Given the description of an element on the screen output the (x, y) to click on. 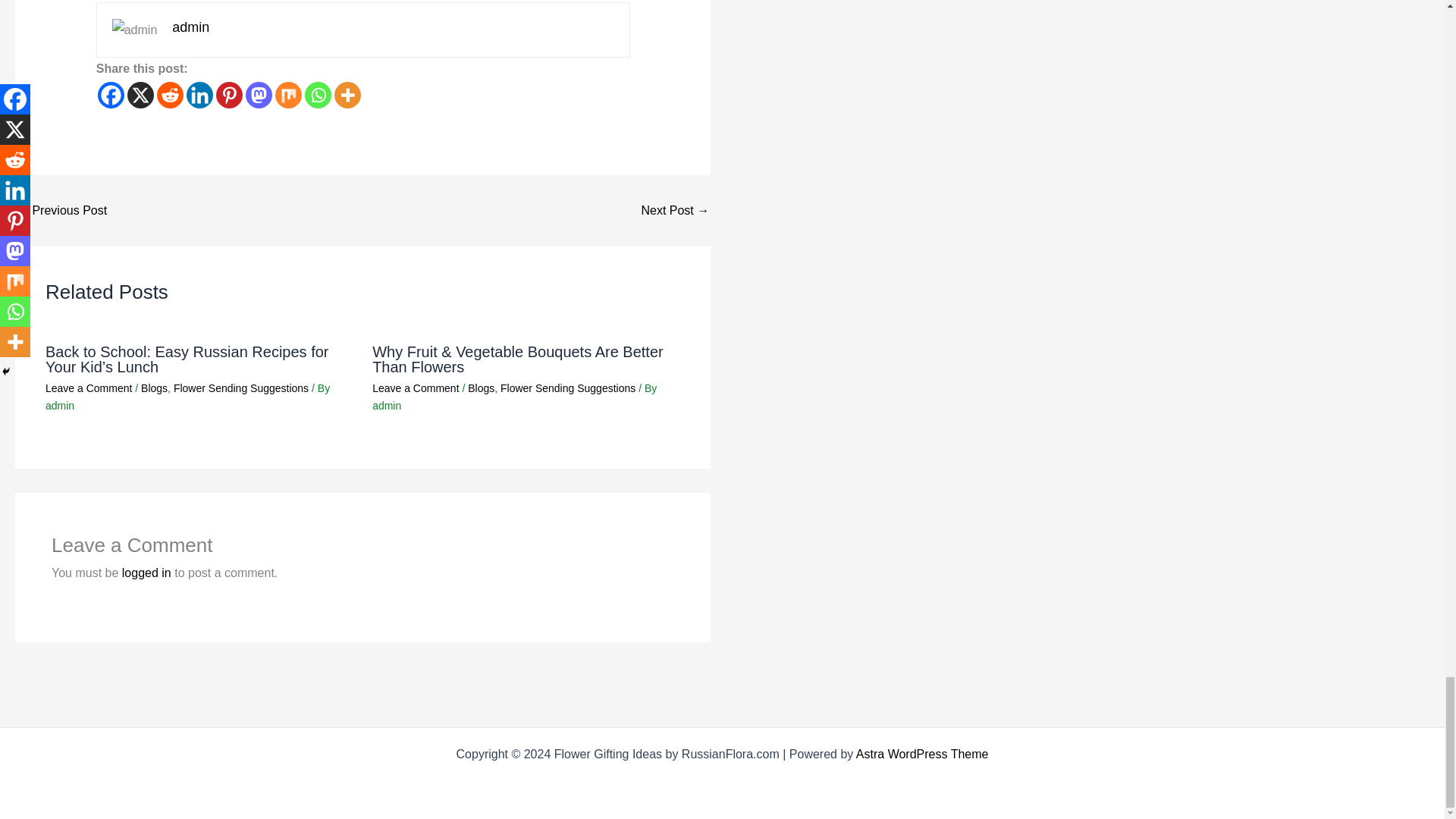
Mastodon (259, 94)
Pinterest (229, 94)
Facebook (110, 94)
More (347, 94)
X (141, 94)
Linkedin (199, 94)
admin (190, 27)
Whatsapp (317, 94)
Mix (288, 94)
Reddit (170, 94)
